Given the description of an element on the screen output the (x, y) to click on. 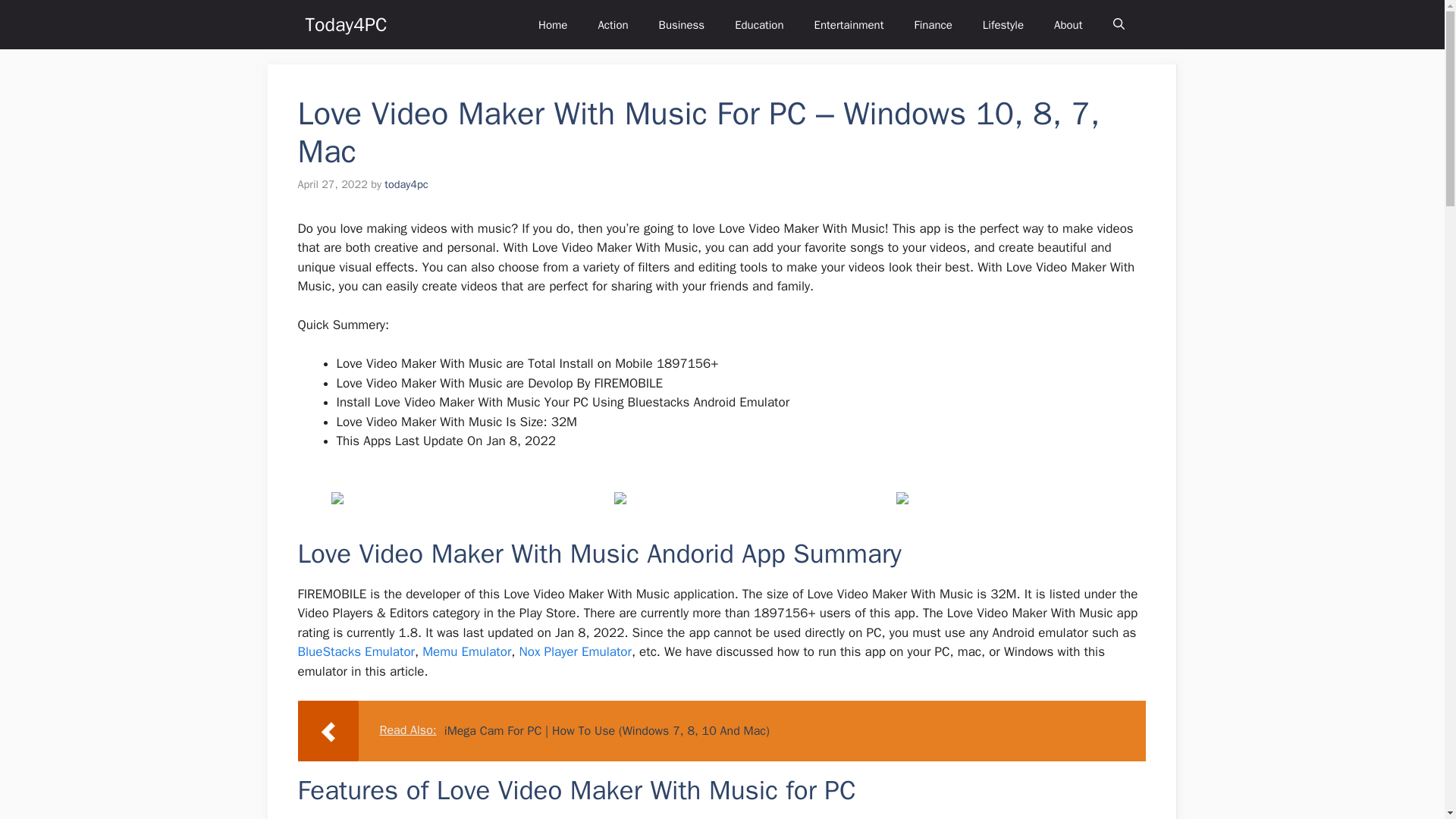
Lifestyle (1003, 23)
Education (758, 23)
View all posts by today4pc (406, 183)
Nox Player Emulator (575, 651)
Finance (932, 23)
About (1068, 23)
Action (612, 23)
Today4PC (345, 24)
Home (552, 23)
today4pc (406, 183)
Business (681, 23)
BlueStacks Emulator (355, 651)
Entertainment (849, 23)
Memu Emulator (466, 651)
